Given the description of an element on the screen output the (x, y) to click on. 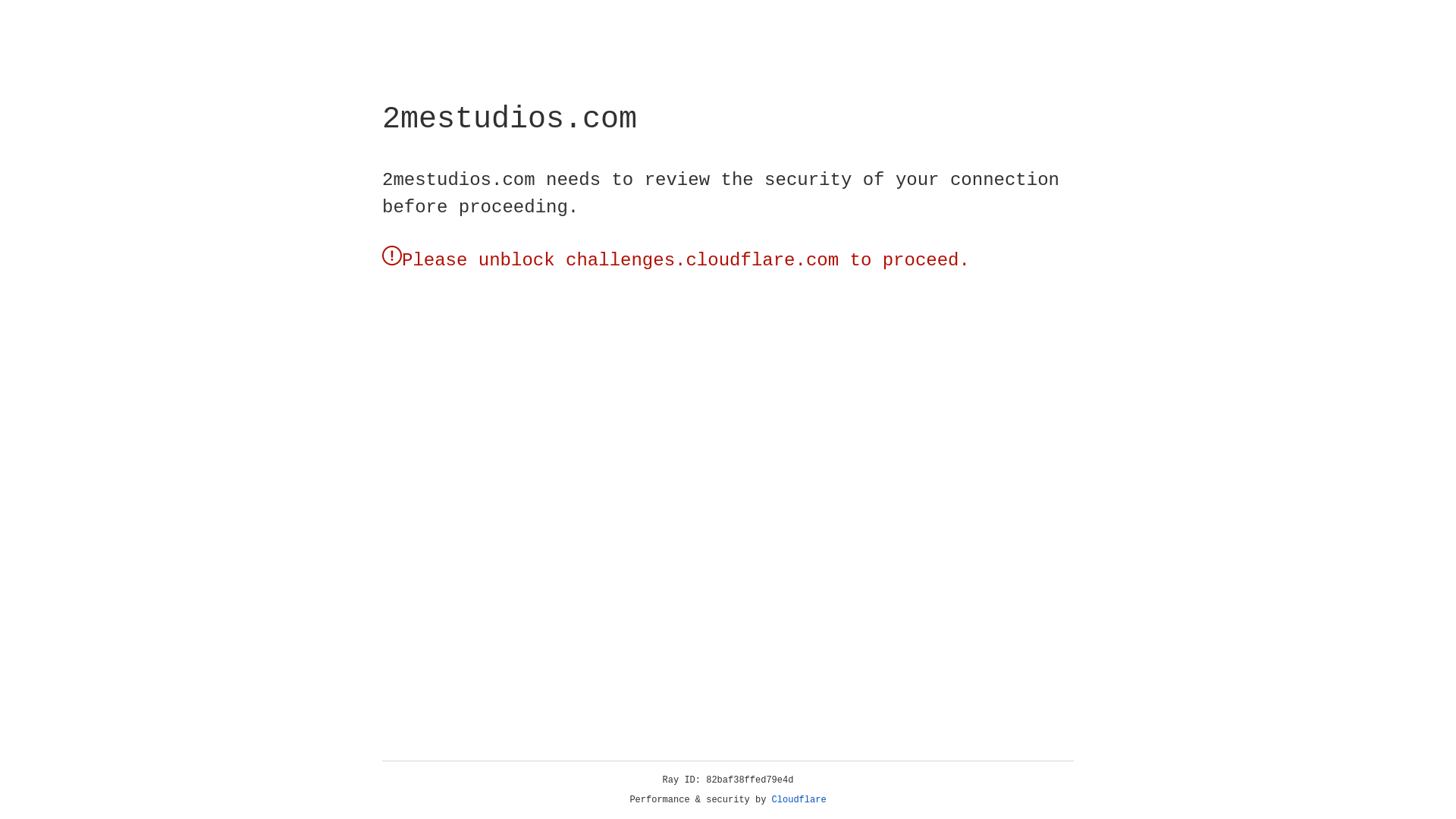
Cloudflare Element type: text (798, 799)
